Given the description of an element on the screen output the (x, y) to click on. 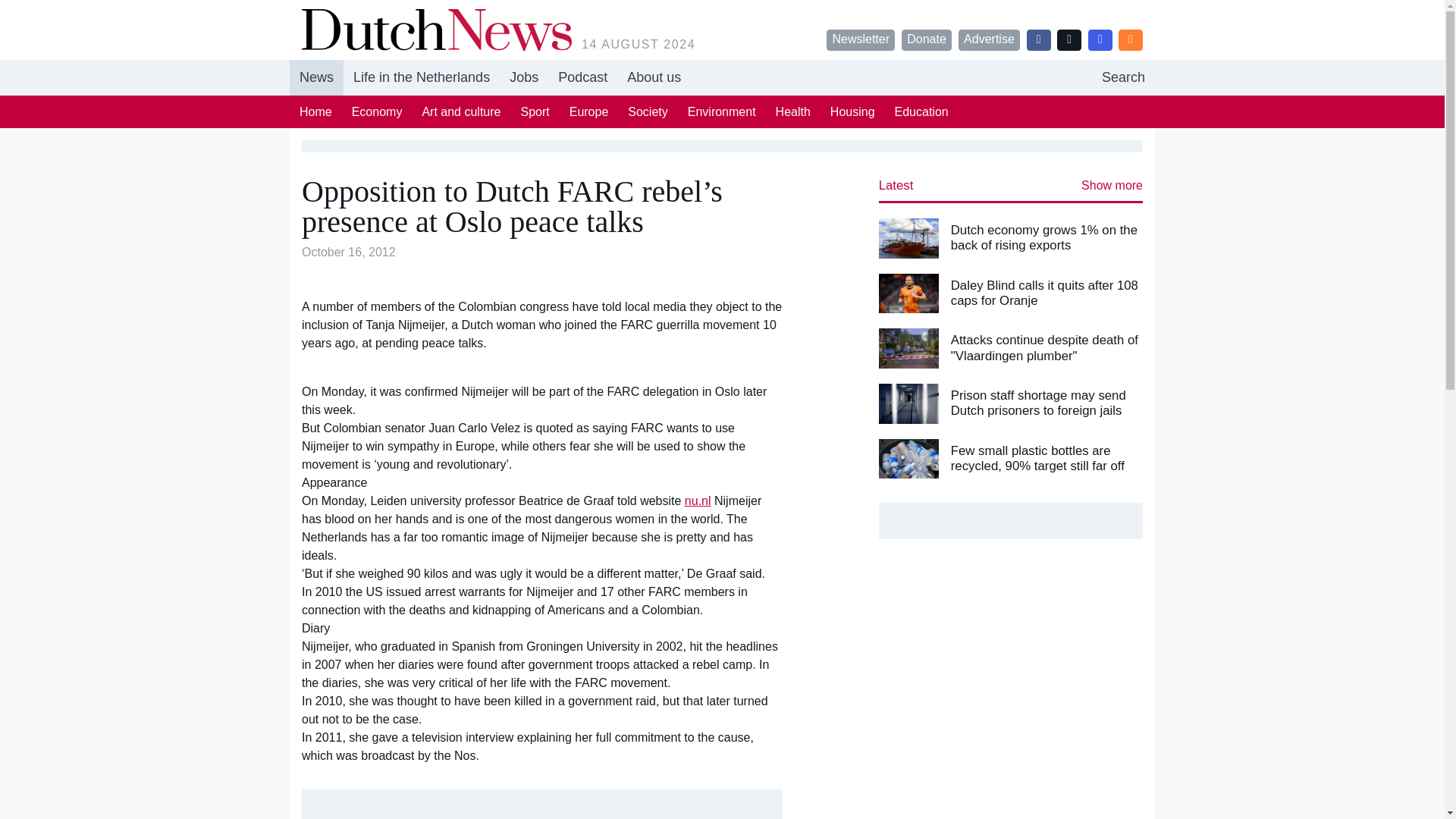
Life in the Netherlands (421, 77)
Home (315, 111)
hidden-in-footer (523, 77)
Newsletter (861, 39)
Housing (853, 111)
News (316, 77)
Podcast (582, 77)
Society (647, 111)
Advertise (721, 77)
